Given the description of an element on the screen output the (x, y) to click on. 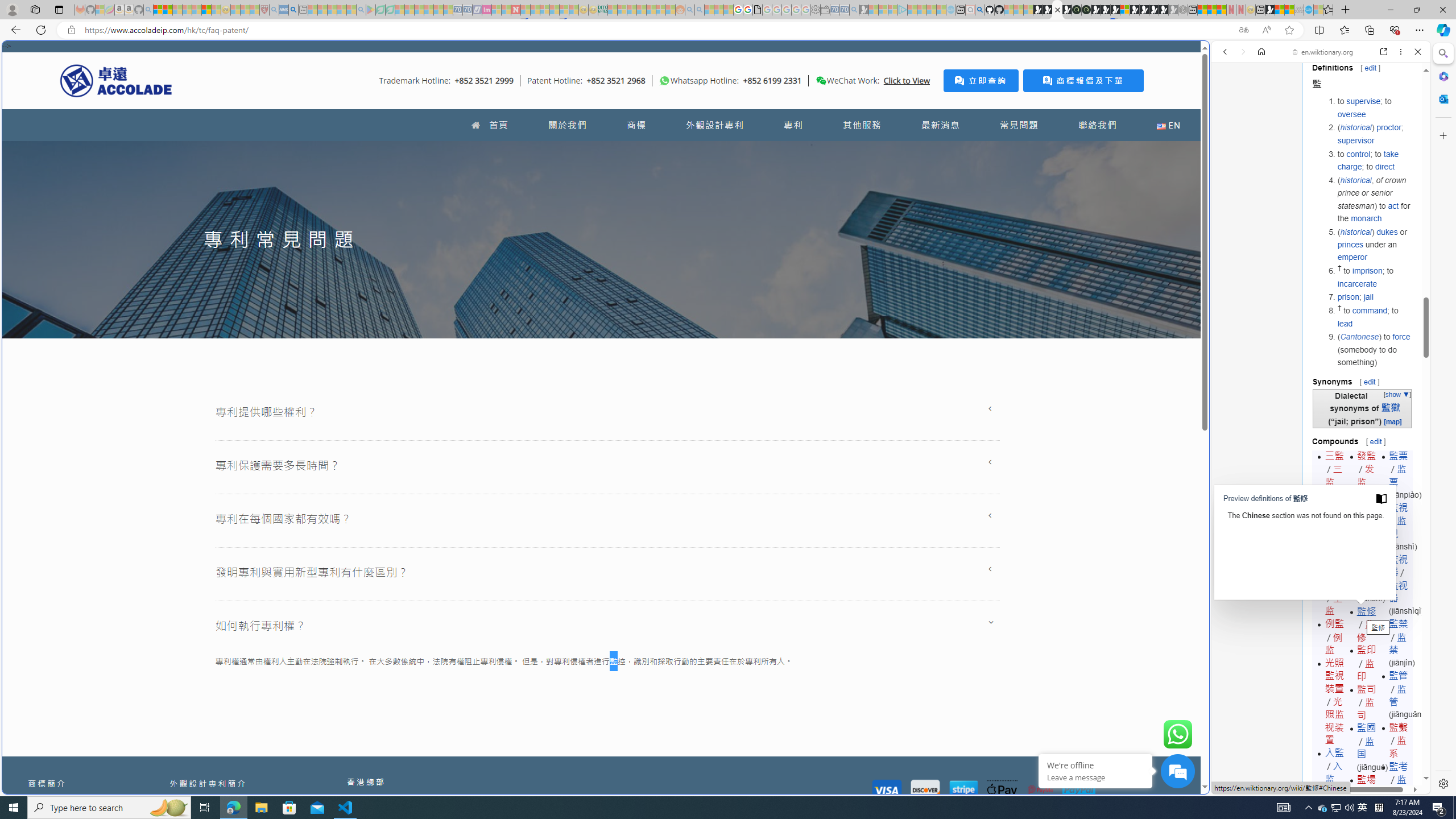
App bar (728, 29)
Web scope (1230, 102)
Class: desktop (821, 80)
MSN (1118, 536)
Wiktionary (1315, 380)
New tab - Sleeping (303, 9)
Class: b_serphb (1404, 130)
Open link in new tab (1383, 51)
